Given the description of an element on the screen output the (x, y) to click on. 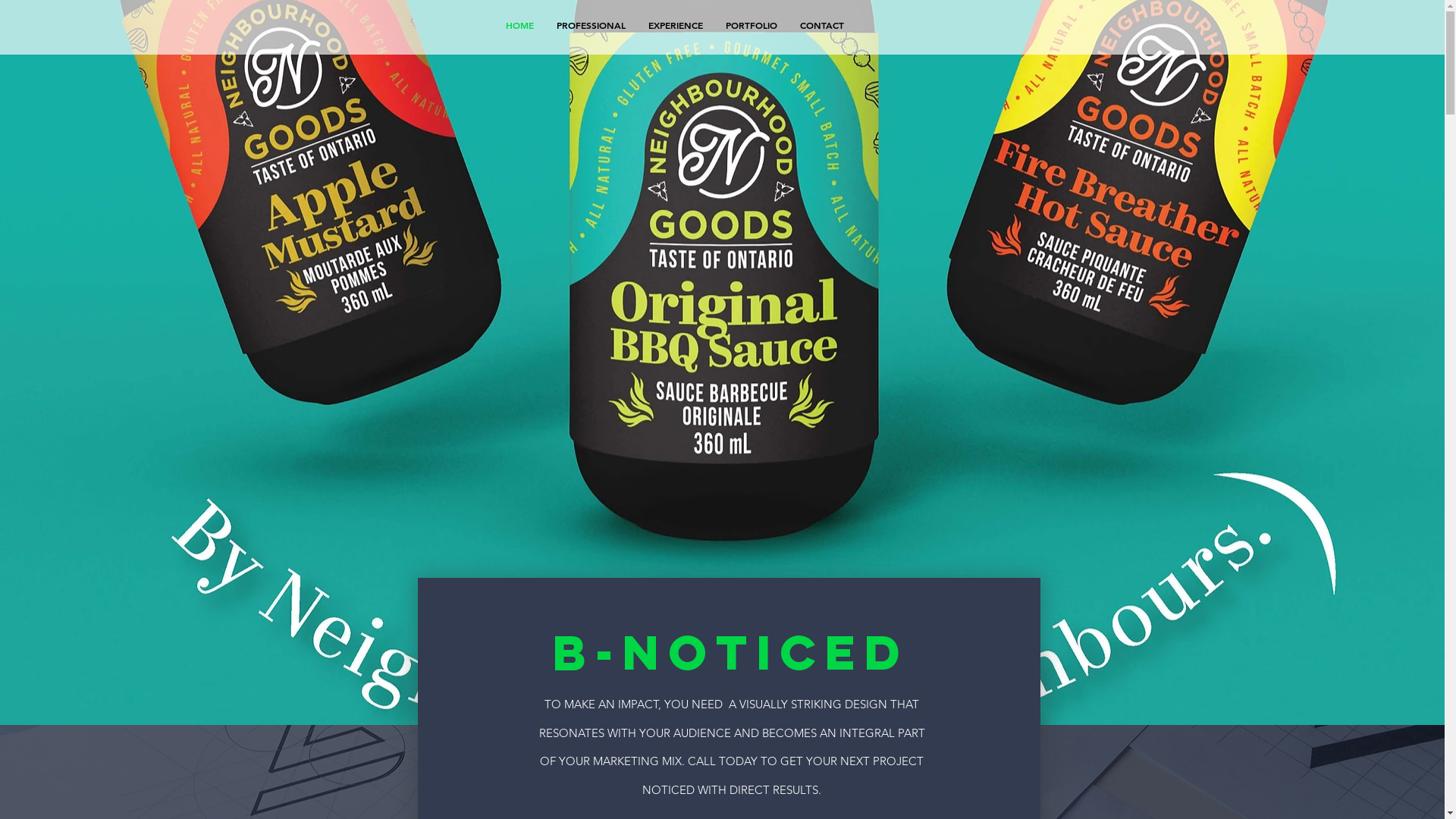
PROFESSIONAL Element type: text (590, 24)
CONTACT Element type: text (821, 24)
EXPERIENCE Element type: text (675, 24)
HOME Element type: text (519, 24)
PORTFOLIO Element type: text (751, 24)
